Given the description of an element on the screen output the (x, y) to click on. 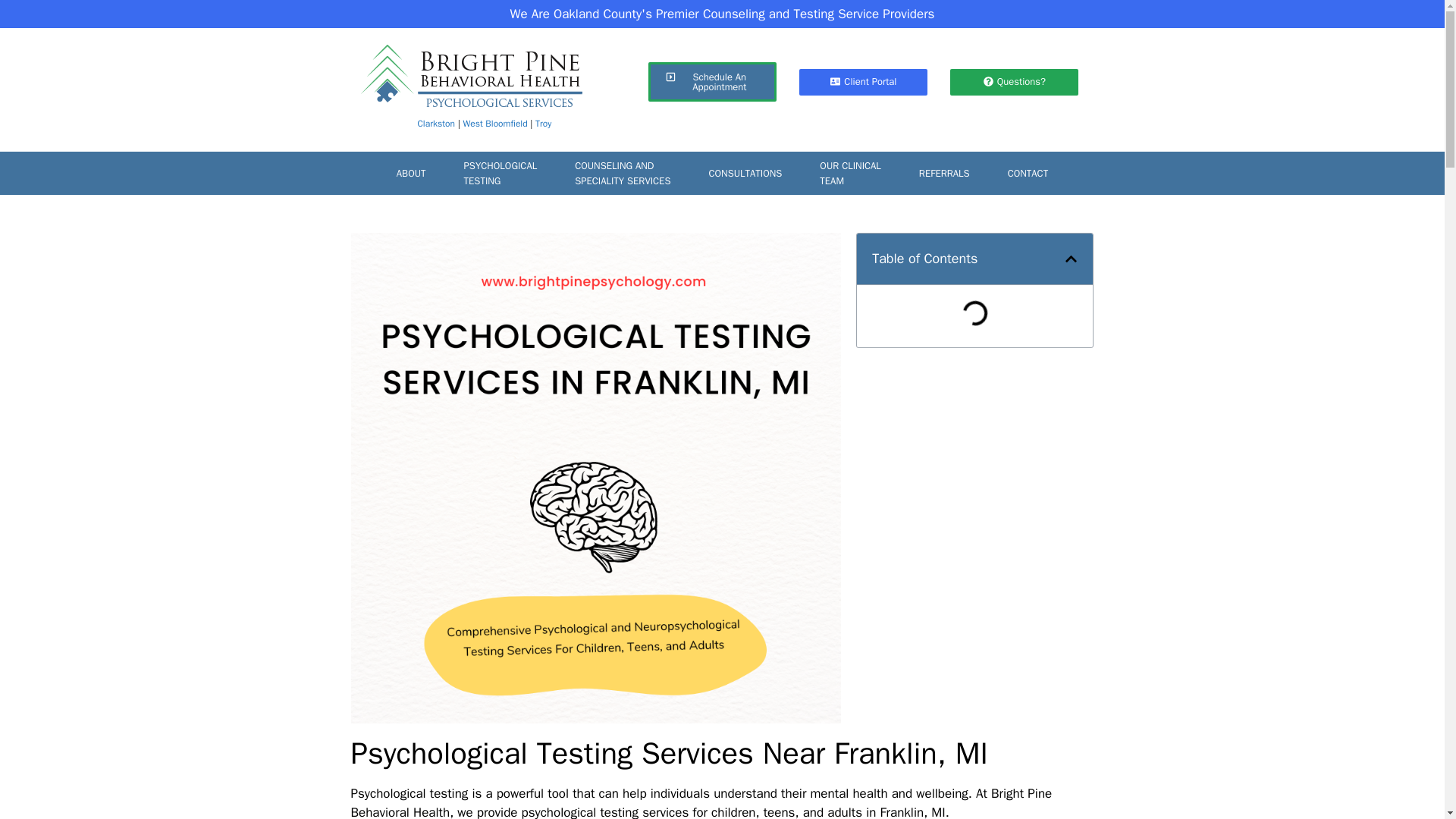
Troy (543, 123)
Client Portal (863, 81)
Clarkston (436, 123)
Schedule An Appointment (711, 81)
ABOUT (500, 173)
Questions? (411, 173)
West Bloomfield (1014, 81)
